Given the description of an element on the screen output the (x, y) to click on. 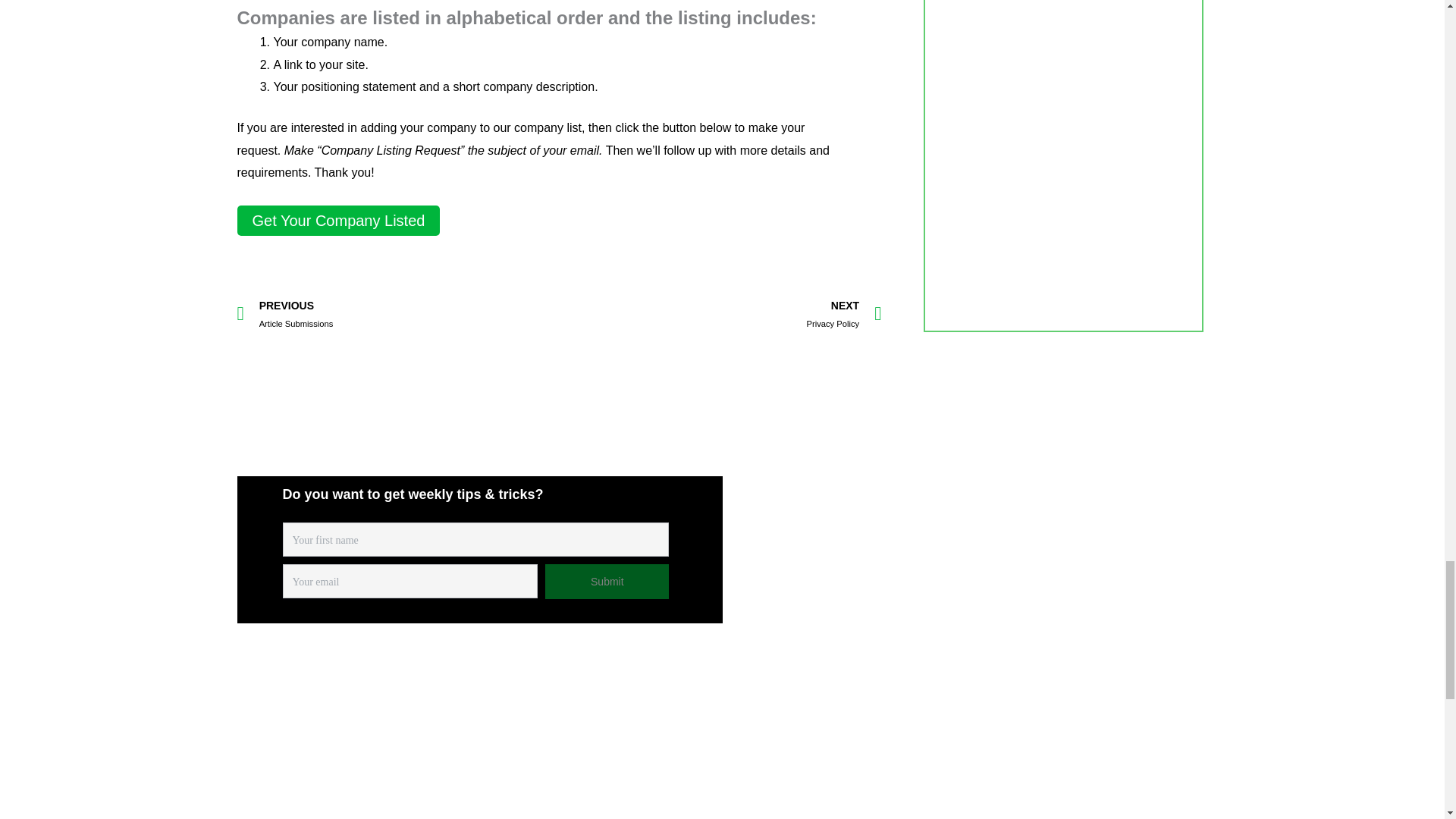
Submit (606, 581)
